Given the description of an element on the screen output the (x, y) to click on. 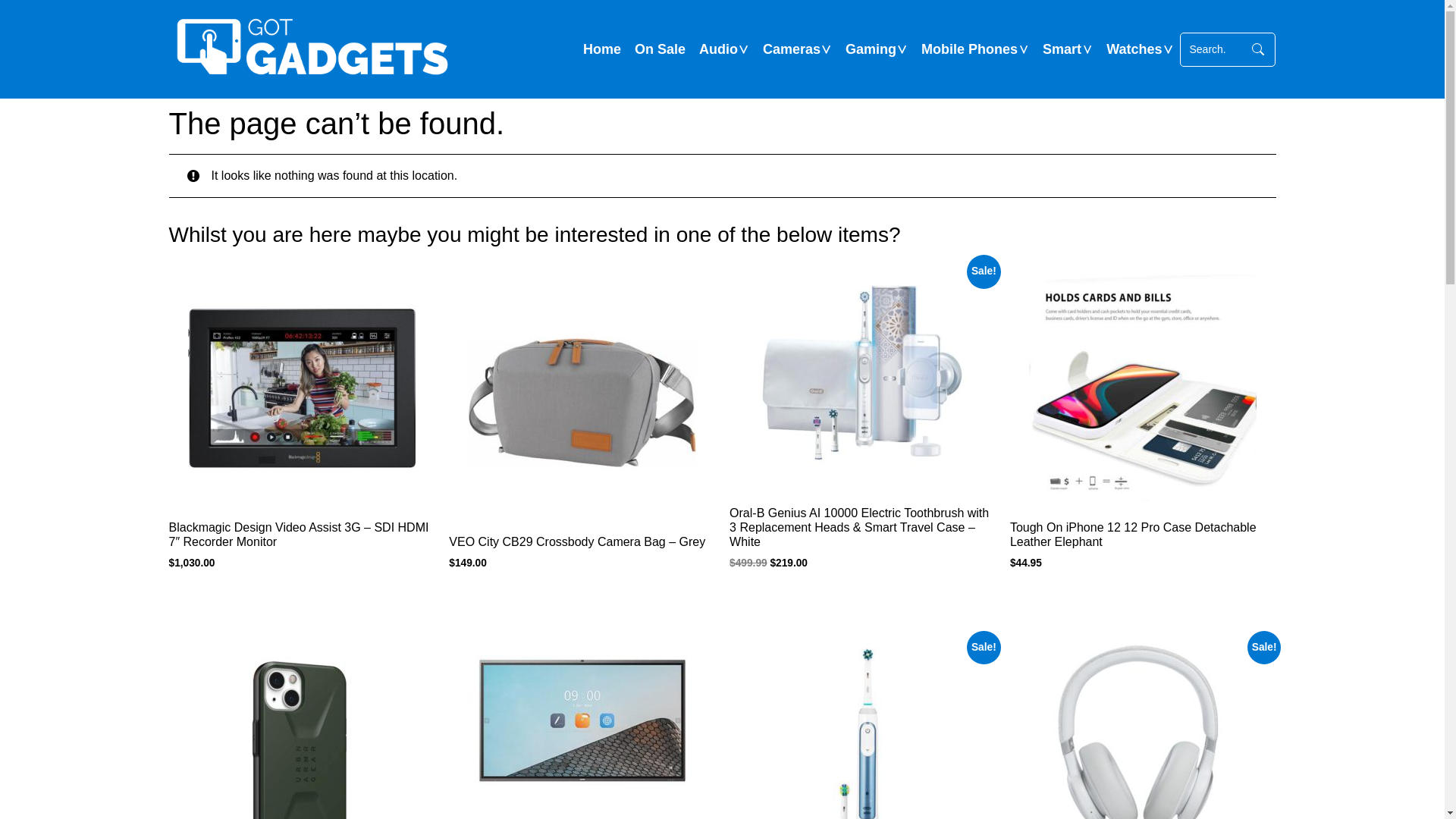
Home Element type: text (601, 49)
Search Element type: text (1257, 49)
On Sale Element type: text (659, 49)
Smart Element type: text (1061, 49)
Cameras Element type: text (791, 49)
Experience the latest Gadgets online now! Element type: hover (312, 49)
Search Element type: hover (1212, 49)
Mobile Phones Element type: text (969, 49)
Audio Element type: text (718, 49)
Gaming Element type: text (870, 49)
Watches Element type: text (1133, 49)
Skip to content Element type: text (721, 0)
